Given the description of an element on the screen output the (x, y) to click on. 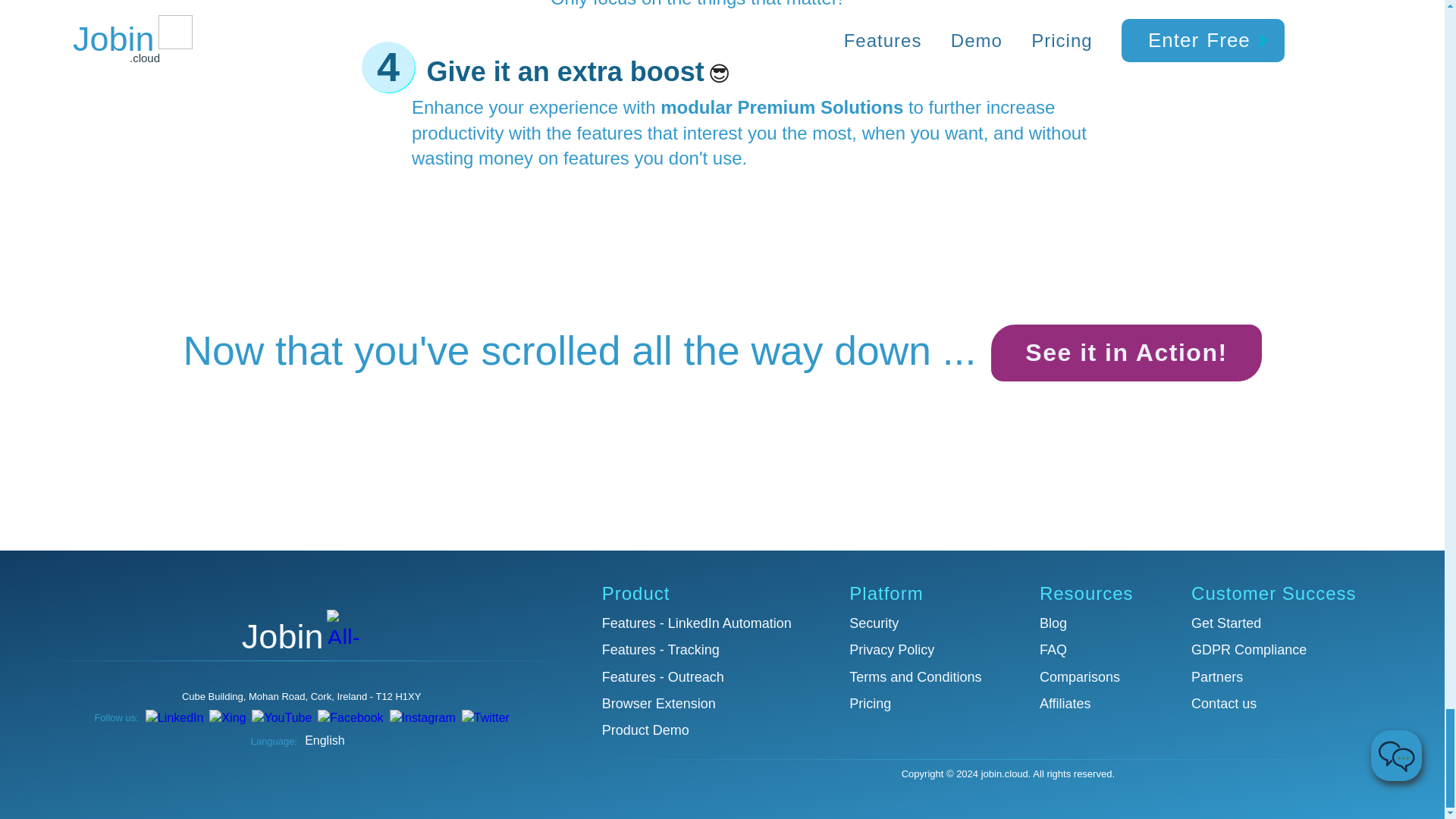
Privacy Policy (929, 650)
Pricing (929, 703)
Jobin (301, 632)
Security (929, 623)
Product Demo (711, 730)
GDPR Compliance (1288, 650)
Comparisons (1100, 677)
Features - LinkedIn Automation (711, 623)
Features - Tracking (711, 650)
Terms and Conditions (929, 677)
Blog (1100, 623)
Browser Extension (711, 703)
Partners (1288, 677)
Affiliates (1100, 703)
See it in Action! (1125, 352)
